Given the description of an element on the screen output the (x, y) to click on. 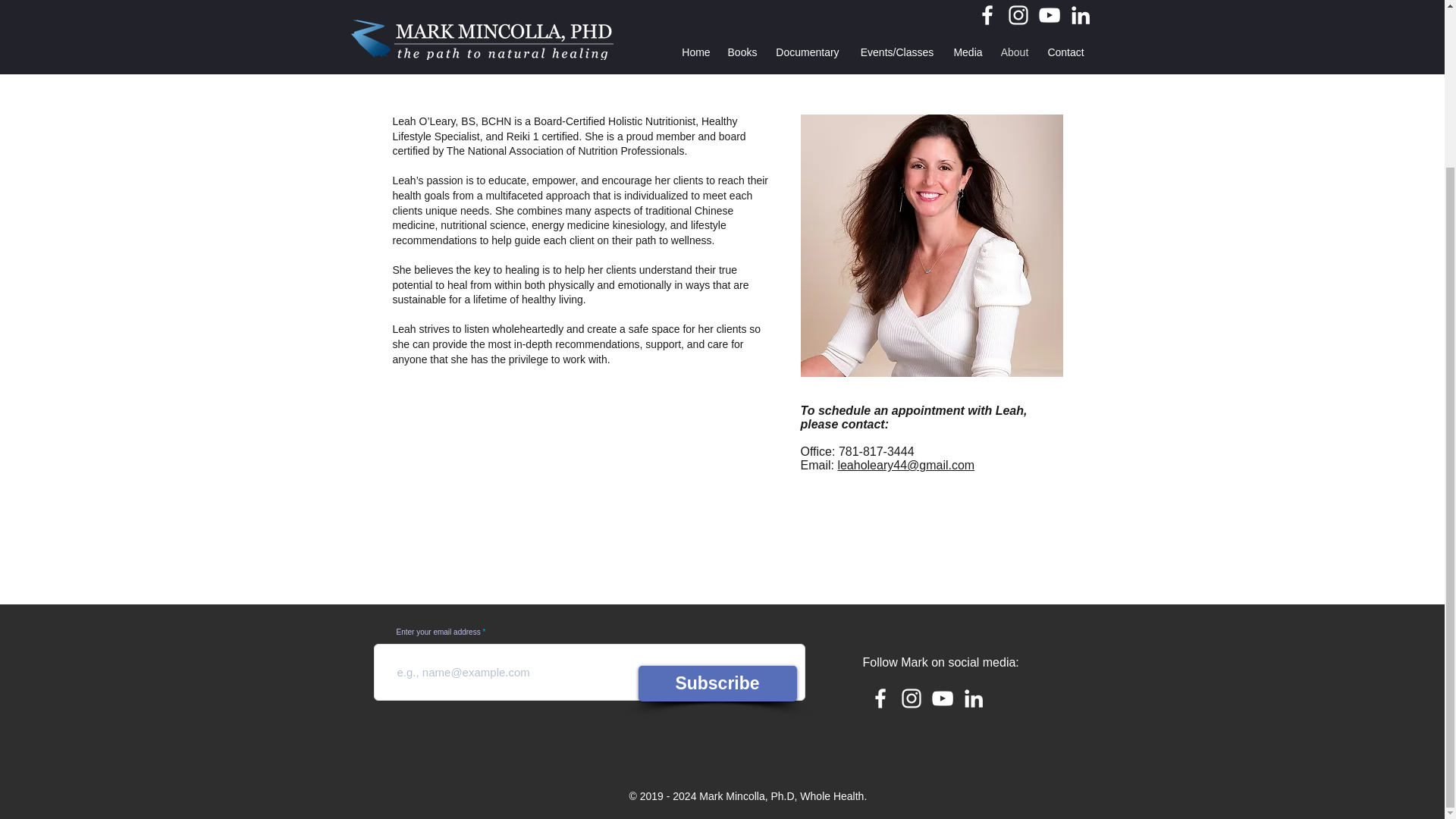
Subscribe (717, 683)
Leah-somers.jpeg (931, 245)
